Given the description of an element on the screen output the (x, y) to click on. 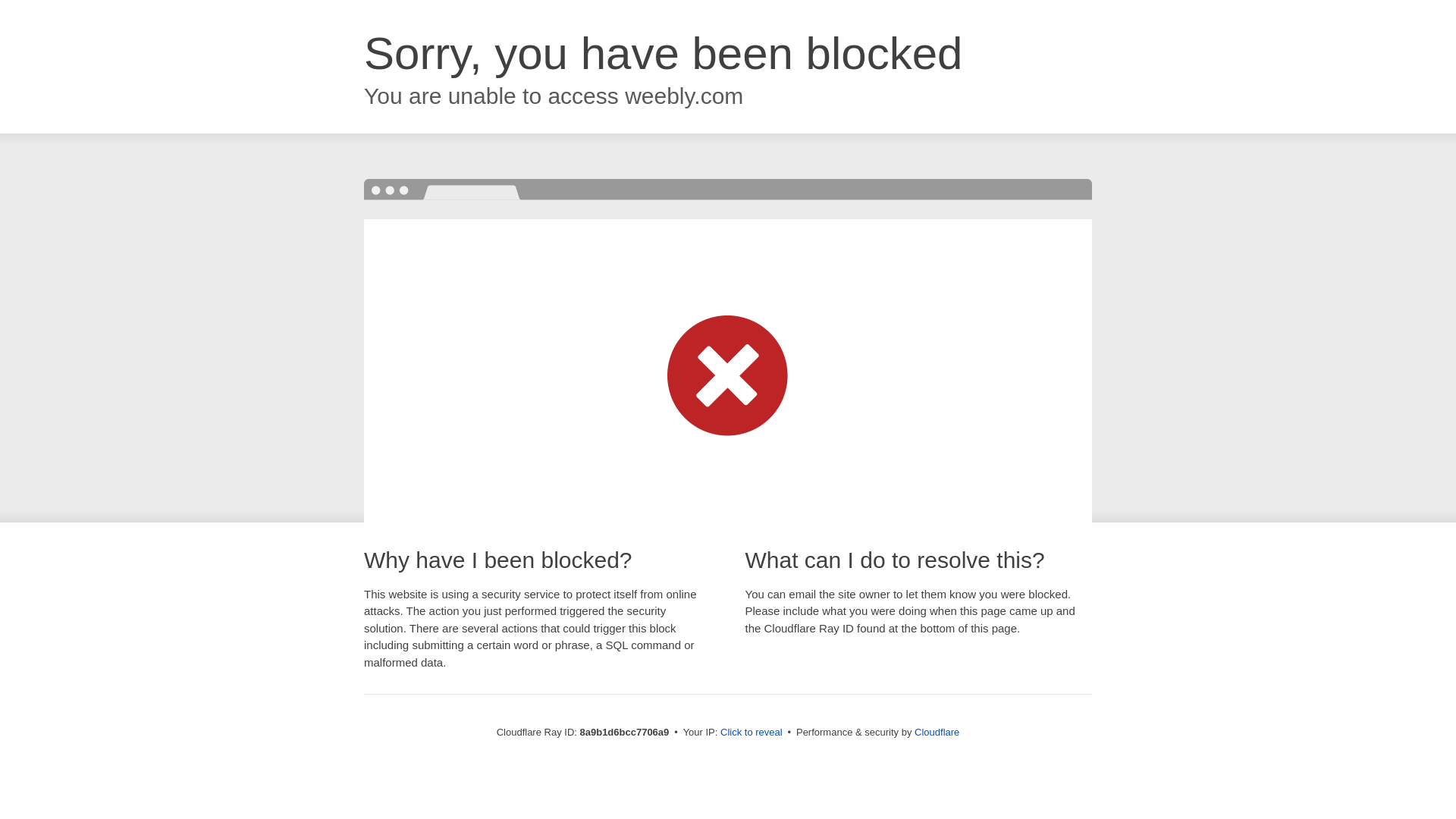
Click to reveal (751, 732)
Cloudflare (936, 731)
